Given the description of an element on the screen output the (x, y) to click on. 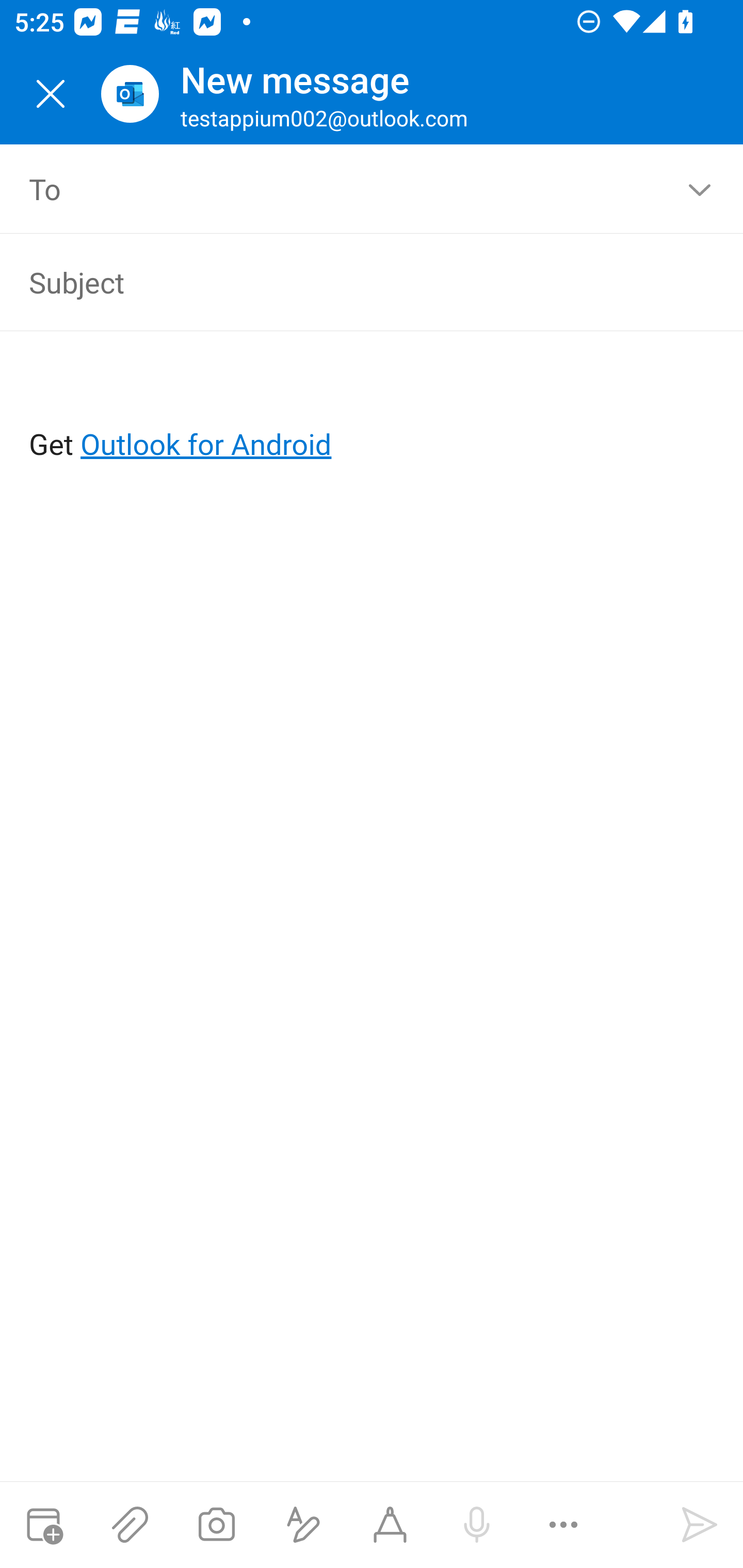
Close (50, 93)
Subject (342, 281)


Get Outlook for Android (372, 411)
Attach meeting (43, 1524)
Attach files (129, 1524)
Take a photo (216, 1524)
Show formatting options (303, 1524)
Start Ink compose (389, 1524)
More options (563, 1524)
Send (699, 1524)
